Given the description of an element on the screen output the (x, y) to click on. 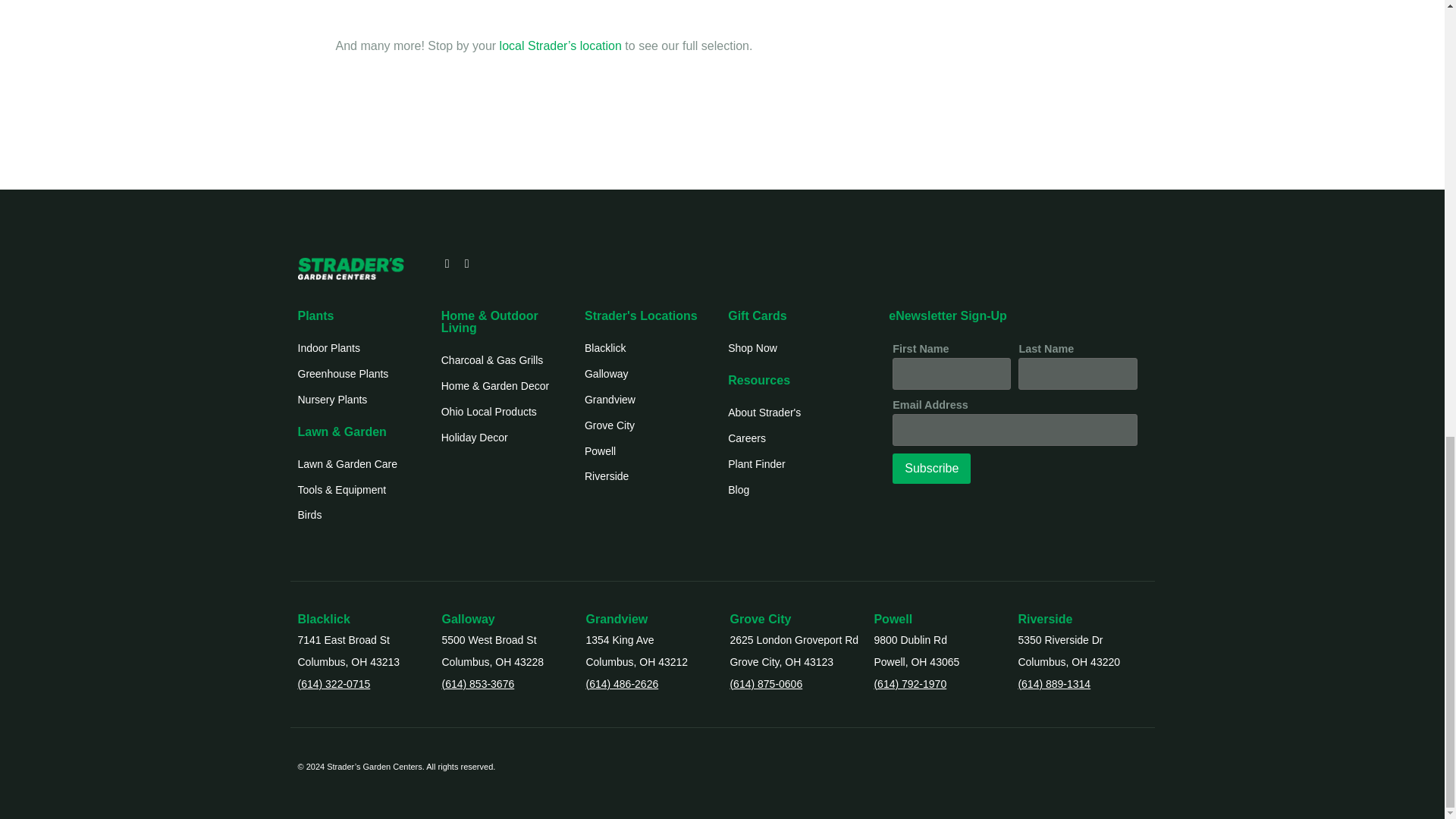
Subscribe (931, 468)
